Given the description of an element on the screen output the (x, y) to click on. 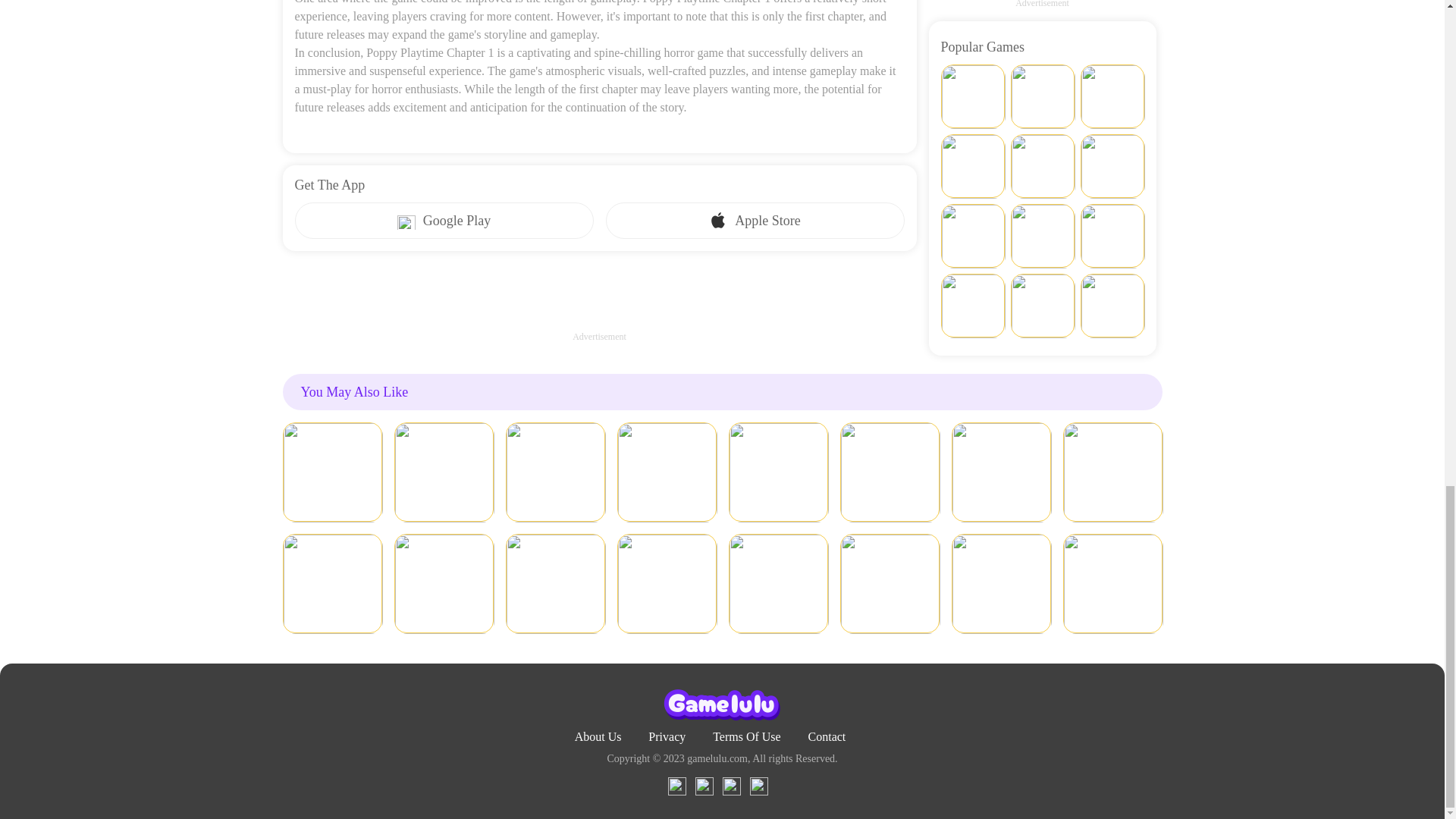
You May Also Like (721, 391)
Google Play (443, 220)
Apple Store (754, 220)
